Given the description of an element on the screen output the (x, y) to click on. 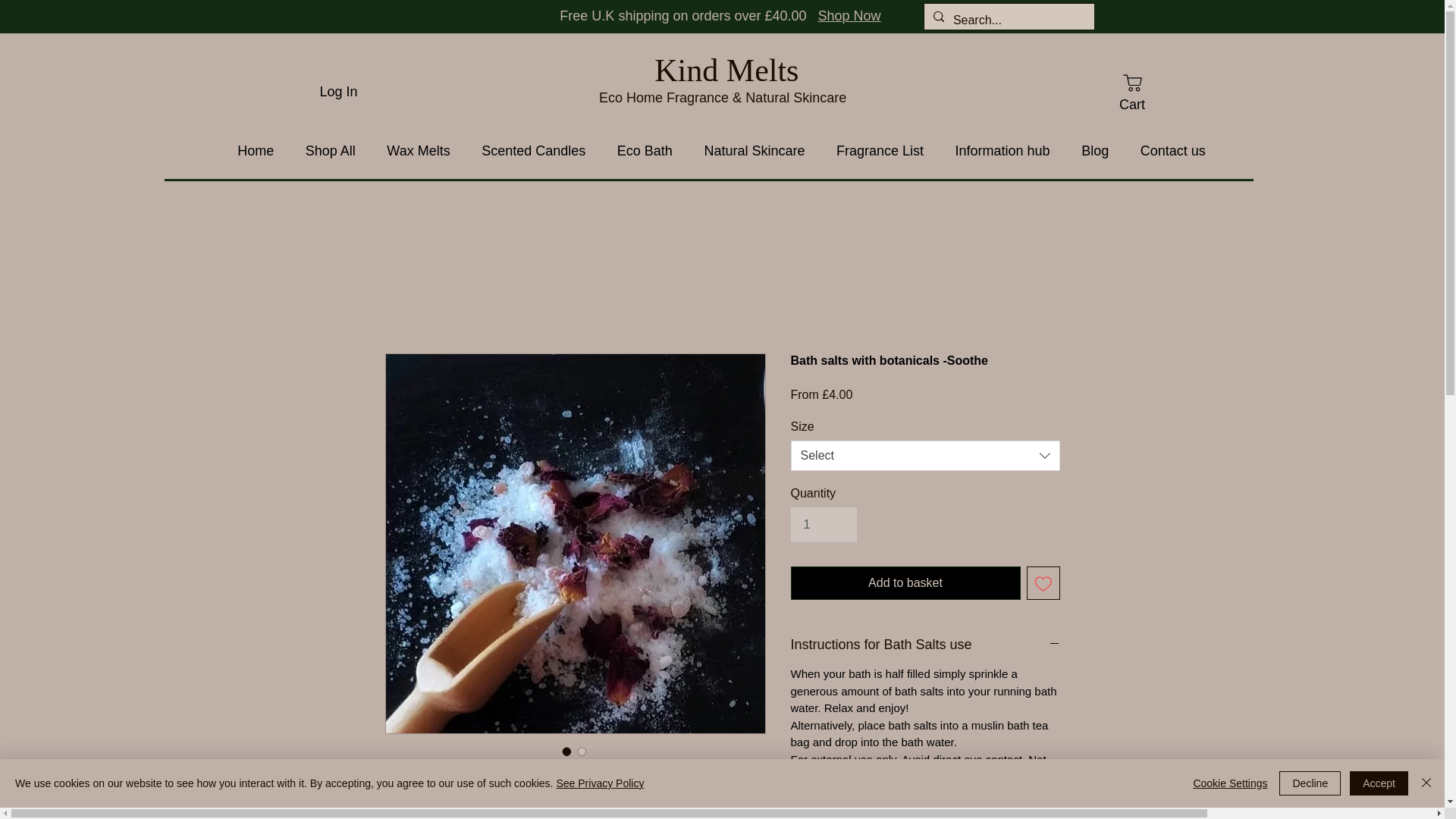
Shop Now (849, 15)
Select (924, 455)
Log In (338, 91)
Wax Melts (419, 152)
Eco Bath (644, 152)
1 (823, 524)
Cart (1131, 91)
Contact us (1173, 152)
Shop All (330, 152)
Fragrance List (879, 152)
